Given the description of an element on the screen output the (x, y) to click on. 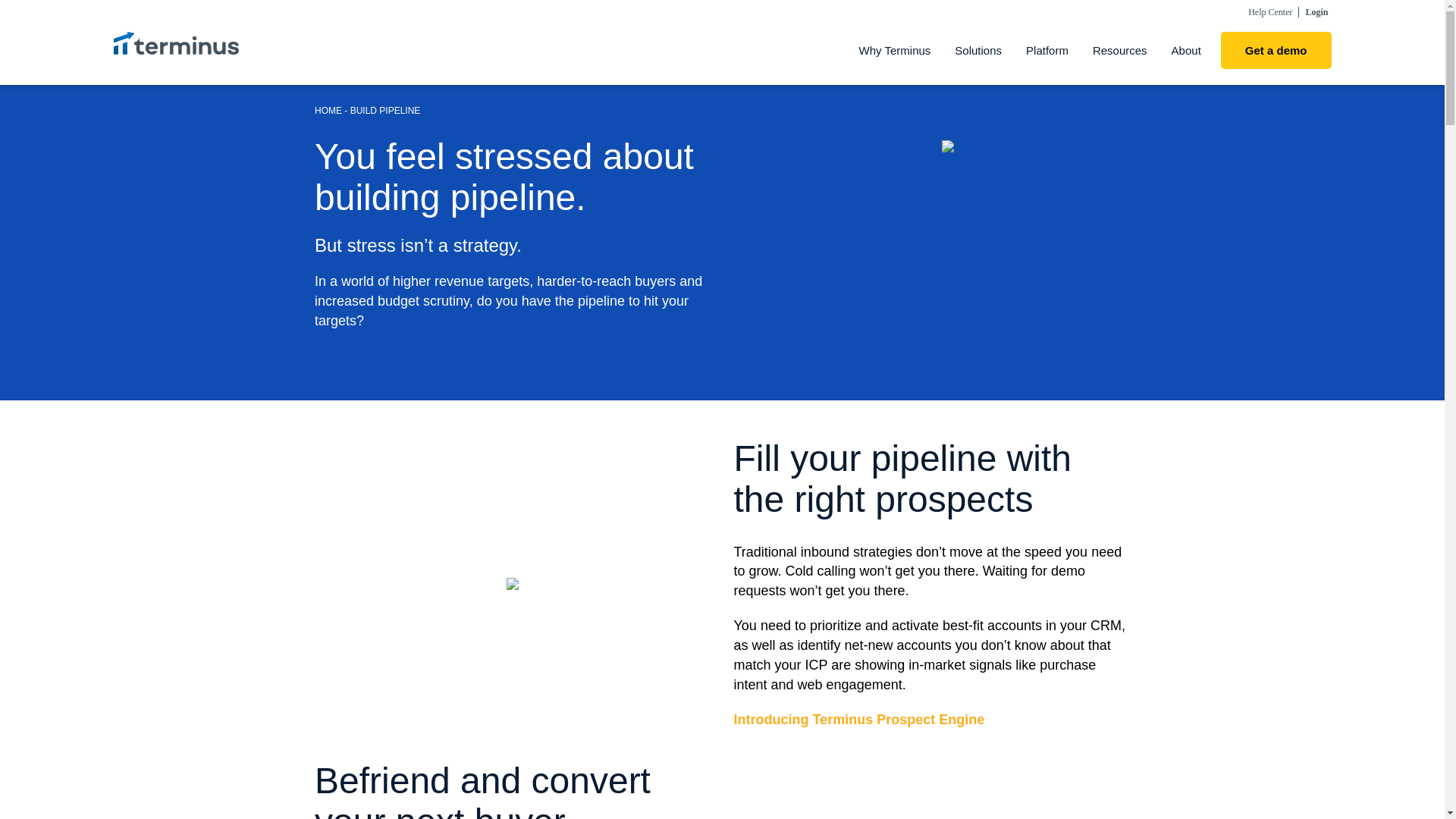
Why Terminus (895, 50)
Platform (1046, 50)
Solutions (977, 50)
